Given the description of an element on the screen output the (x, y) to click on. 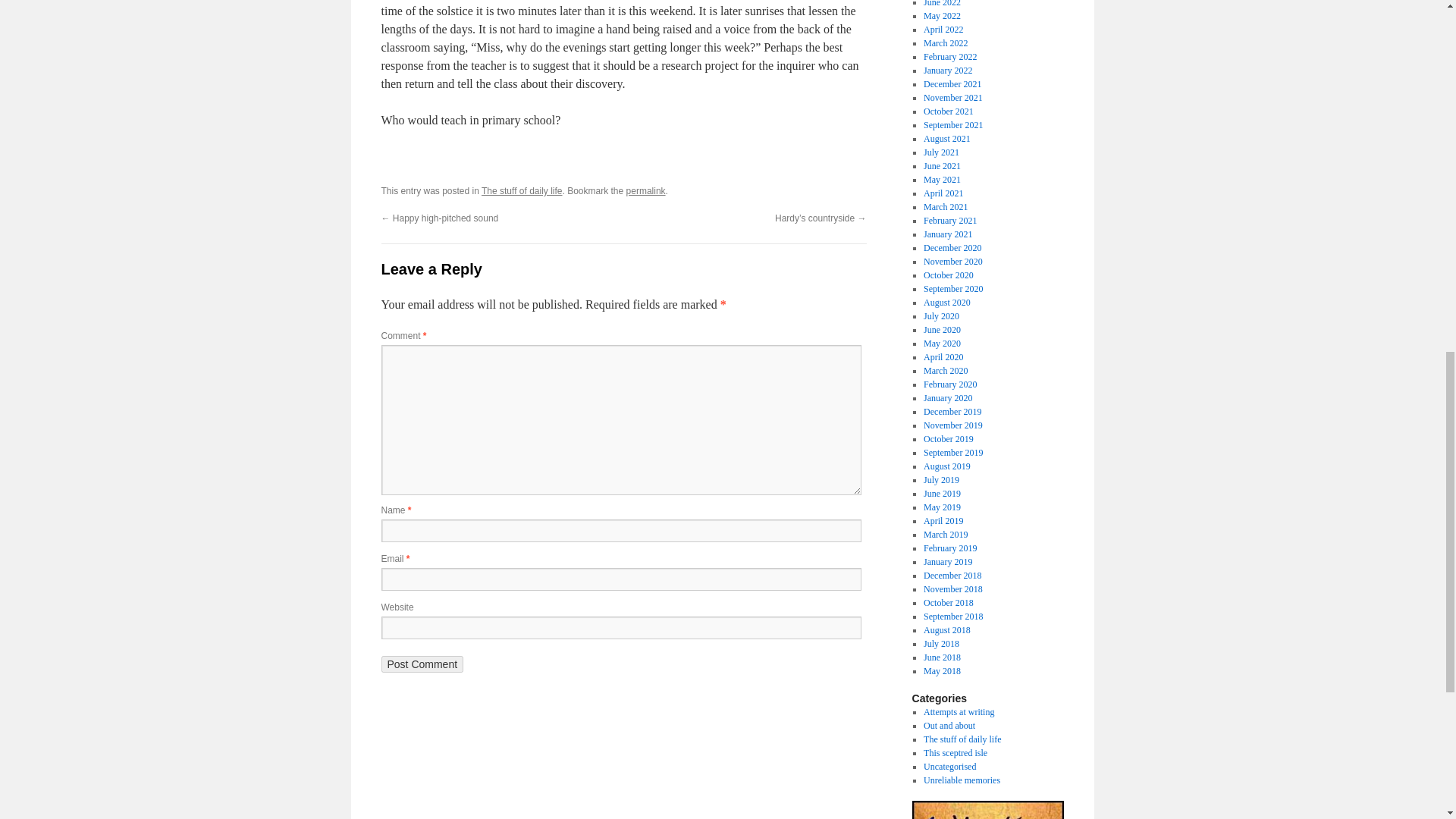
Permalink to Primary school sunsets (645, 190)
Post Comment (421, 664)
The stuff of daily life (521, 190)
permalink (645, 190)
Post Comment (421, 664)
